Given the description of an element on the screen output the (x, y) to click on. 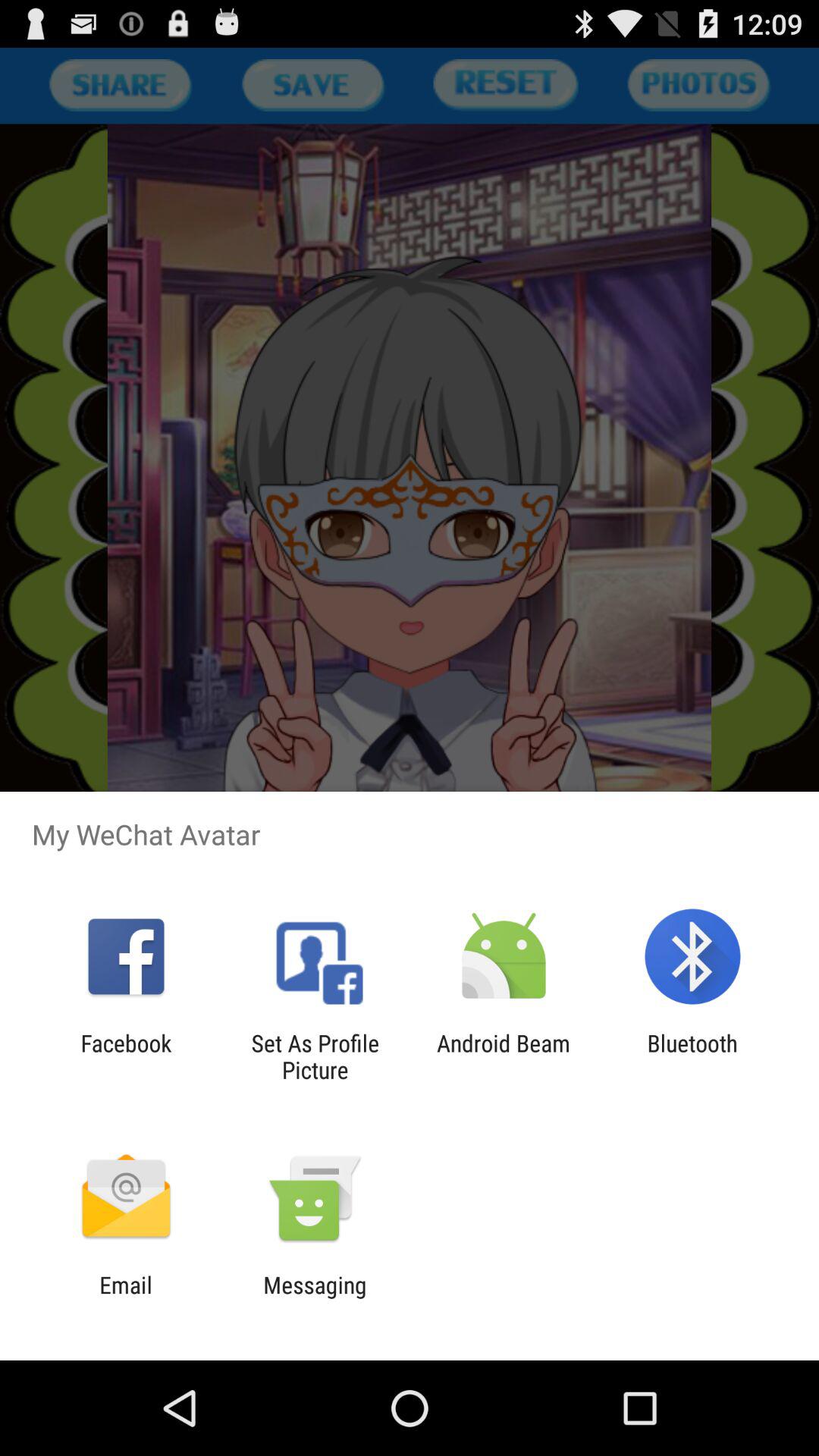
click app to the right of set as profile app (503, 1056)
